Given the description of an element on the screen output the (x, y) to click on. 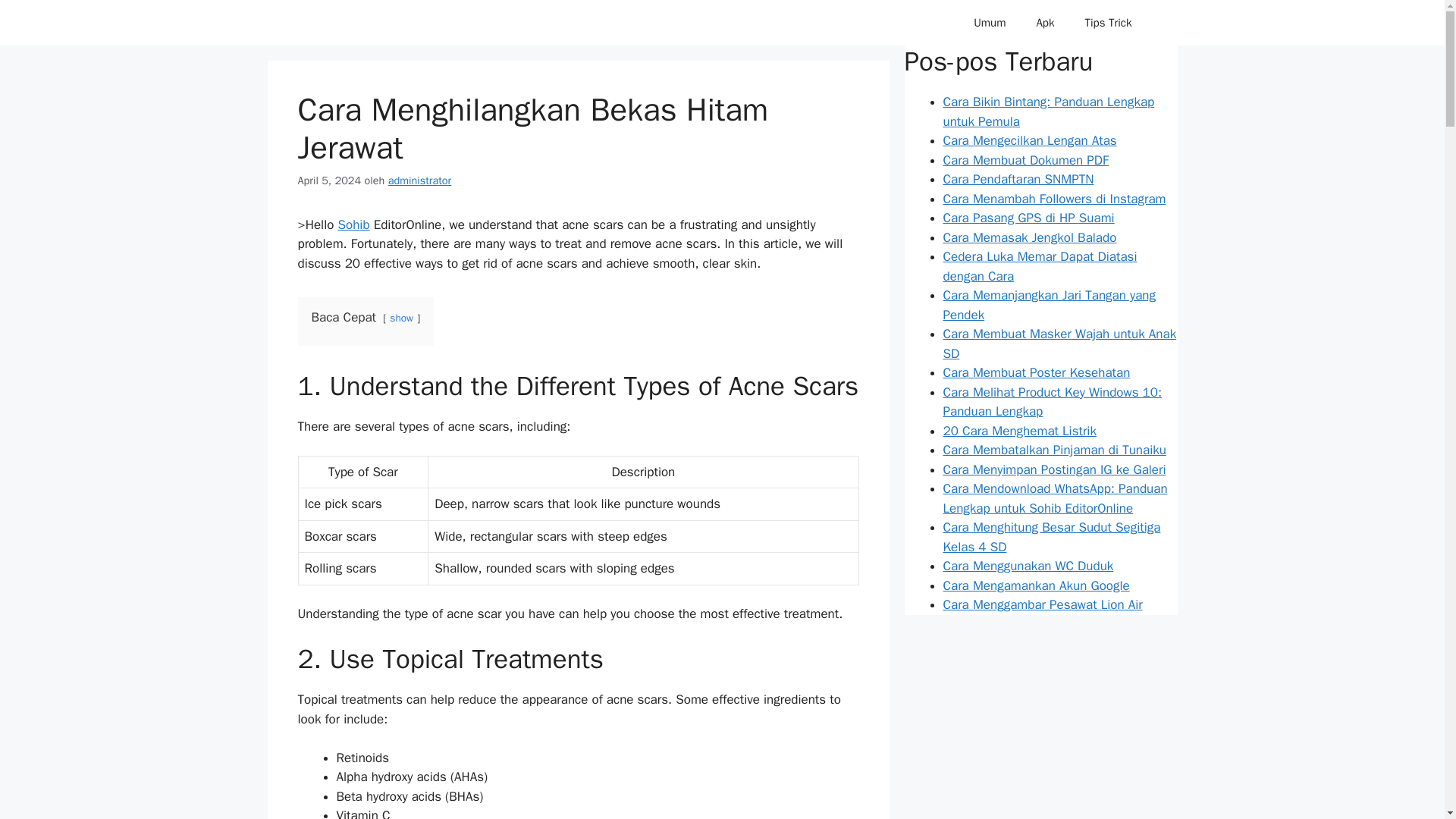
Editor Online (378, 22)
administrator (419, 180)
Lihat semua tulisan oleh administrator (419, 180)
Tips Trick (1107, 22)
Umum (989, 22)
show (401, 318)
Sohib (353, 224)
Apk (1044, 22)
Sohib (353, 224)
